Given the description of an element on the screen output the (x, y) to click on. 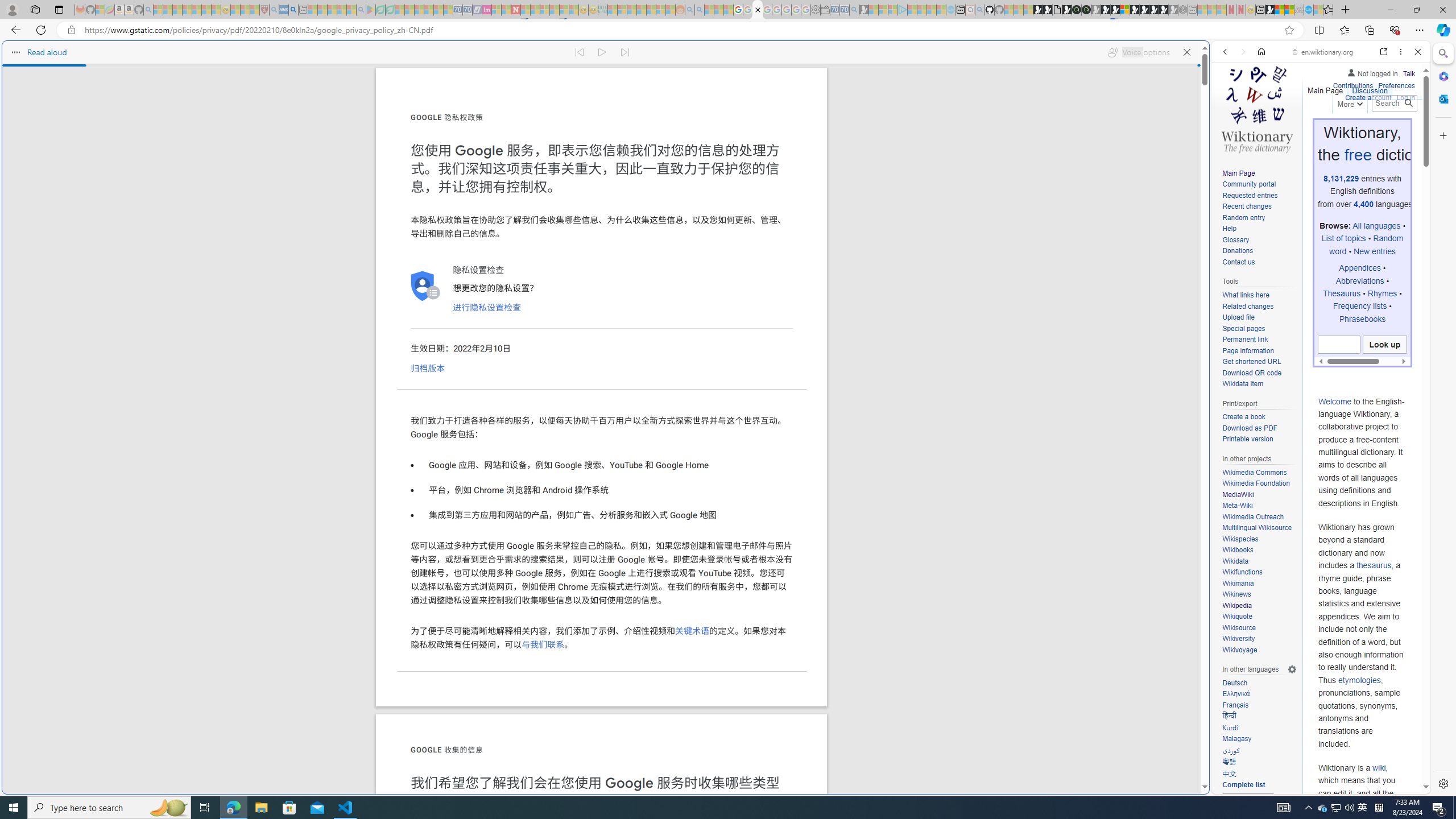
Printable version (1247, 438)
Settings - Sleeping (815, 9)
8,131,229 (1341, 178)
Page information (1259, 351)
Printable version (1259, 439)
Wikiquote (1259, 616)
Wikispecies (1259, 539)
Open link in new tab (1383, 51)
